Given the description of an element on the screen output the (x, y) to click on. 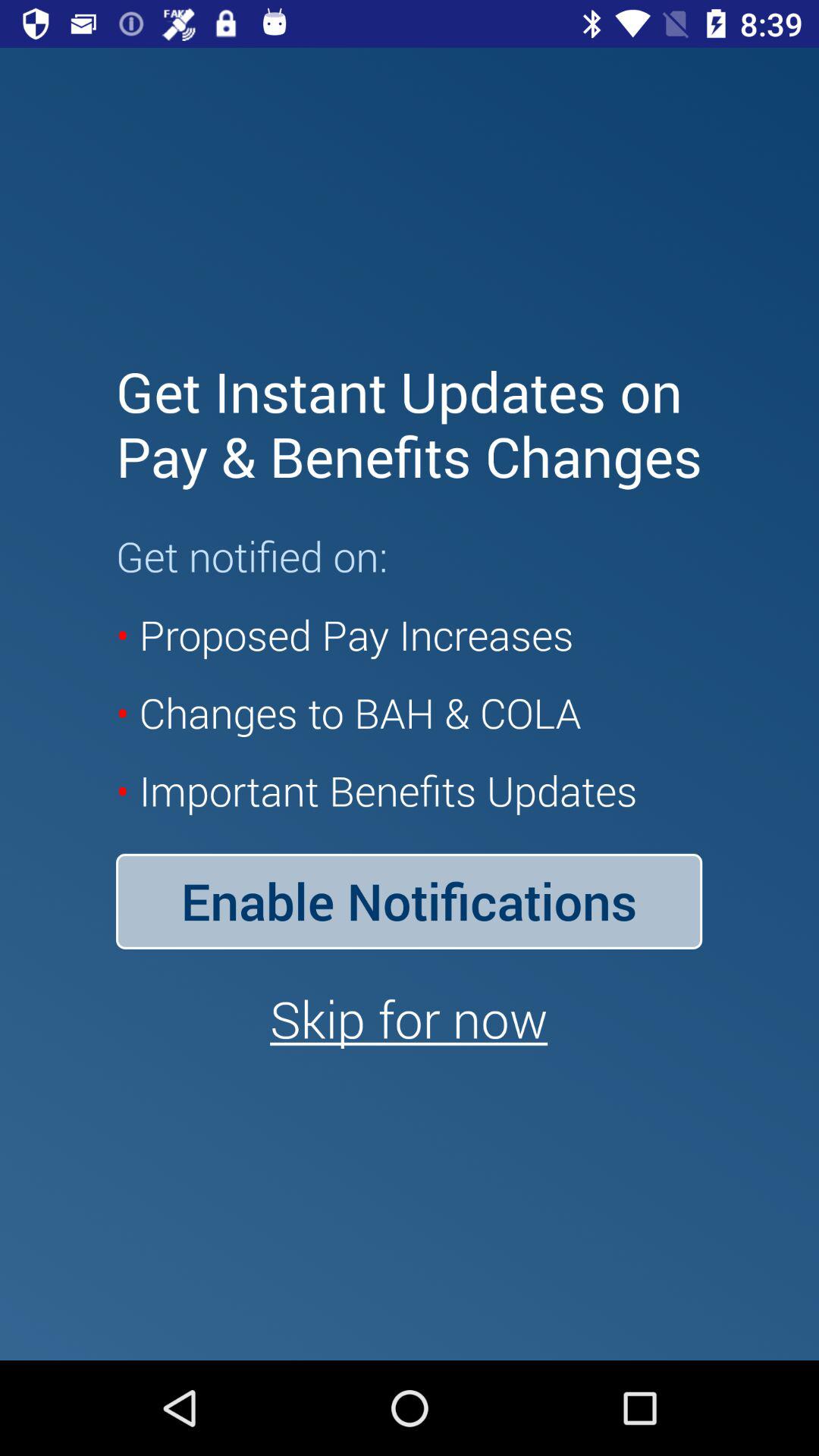
click the enable notifications icon (409, 901)
